Given the description of an element on the screen output the (x, y) to click on. 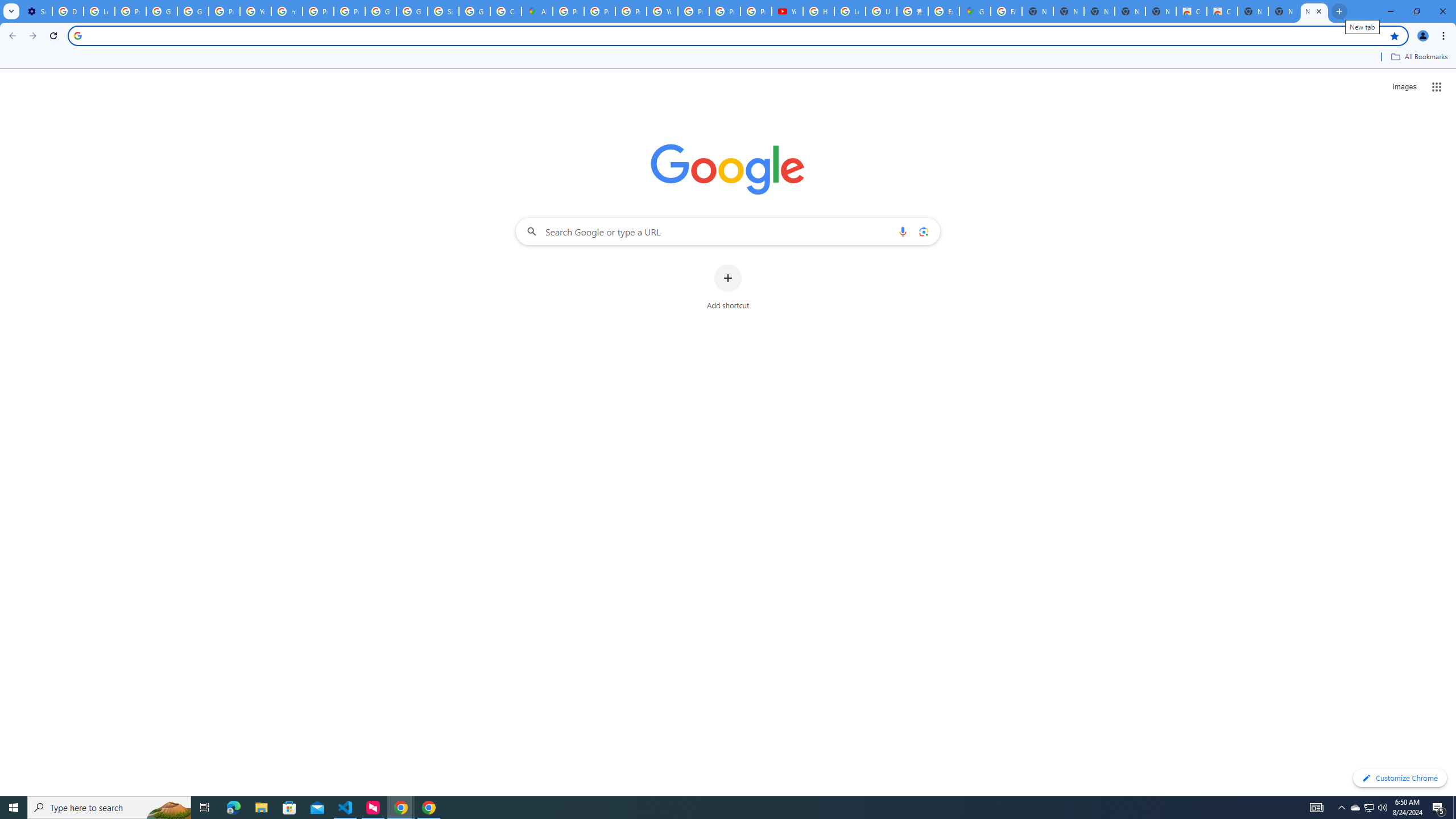
Create your Google Account (505, 11)
Explore new street-level details - Google Maps Help (943, 11)
Privacy Help Center - Policies Help (599, 11)
Delete photos & videos - Computer - Google Photos Help (67, 11)
New Tab (1314, 11)
Classic Blue - Chrome Web Store (1190, 11)
Google Maps (974, 11)
YouTube (787, 11)
